Given the description of an element on the screen output the (x, y) to click on. 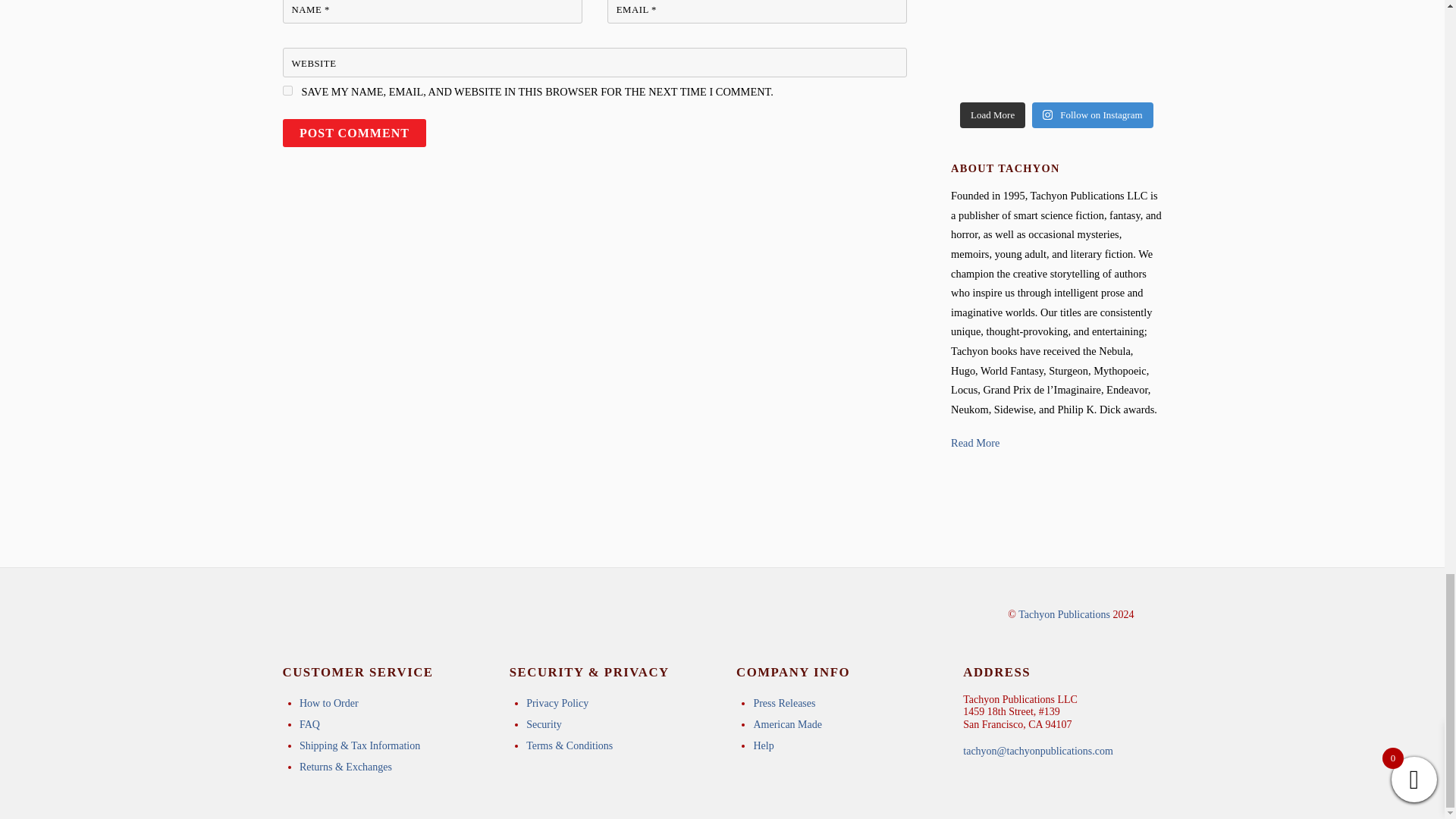
Press Releases (783, 703)
Post Comment (354, 132)
Privacy Policy (556, 703)
yes (287, 90)
Frequently Asked Questions (309, 724)
Security (543, 724)
How to Order (328, 703)
